Given the description of an element on the screen output the (x, y) to click on. 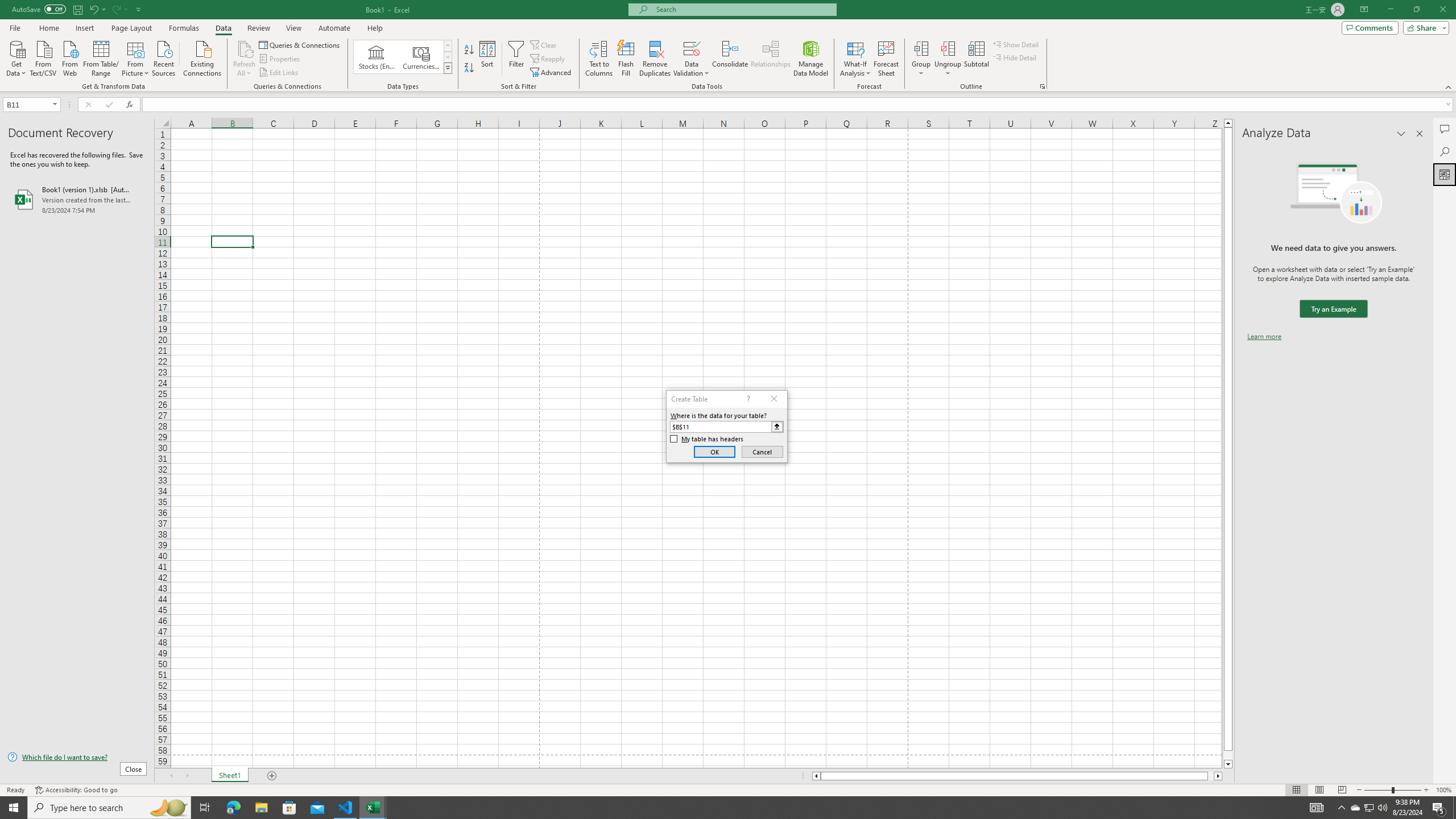
Sort... (487, 58)
Relationships (770, 58)
Group and Outline Settings (1042, 85)
Currencies (English) (420, 56)
Reapply (548, 58)
